Given the description of an element on the screen output the (x, y) to click on. 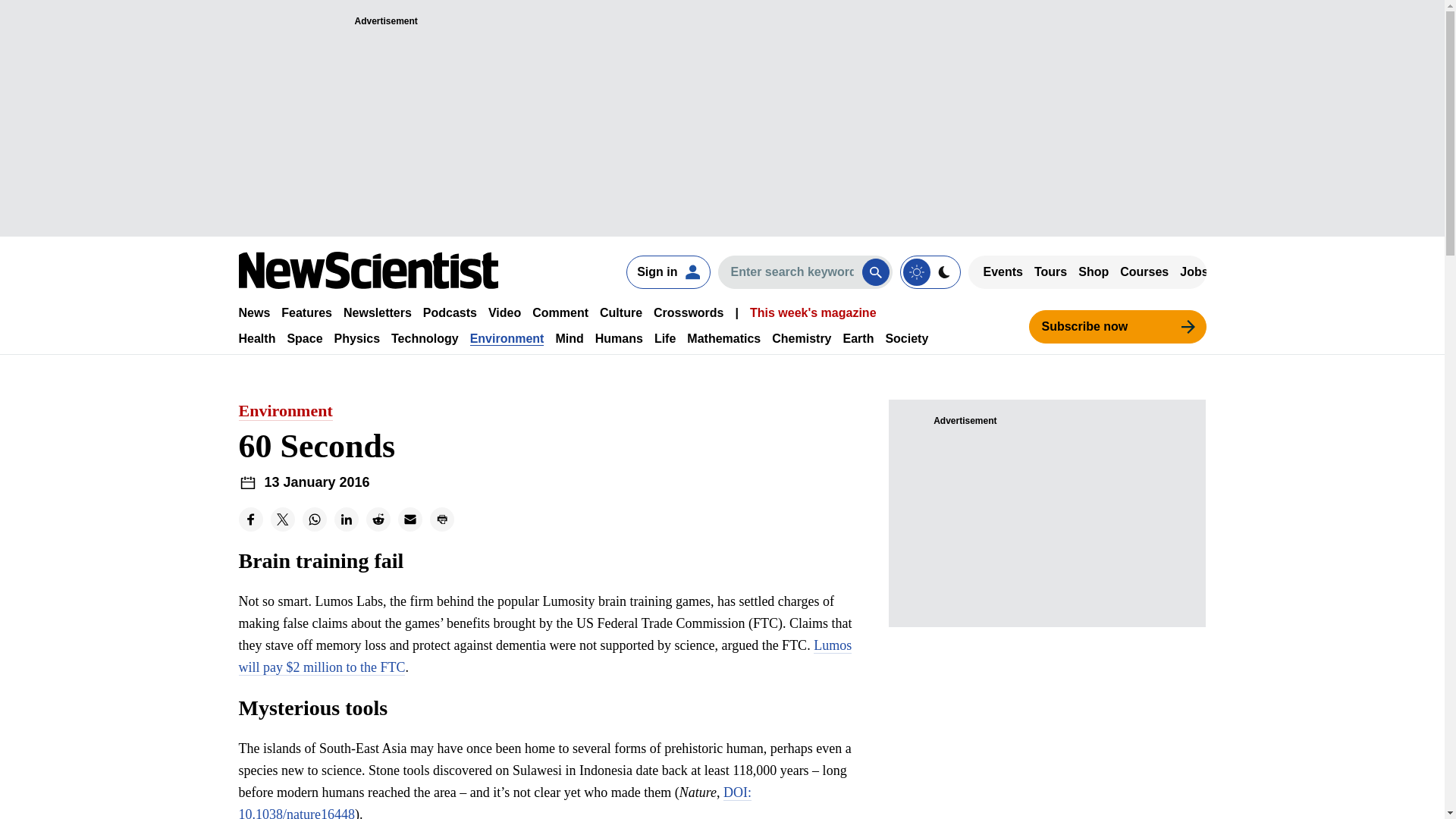
Shop (1093, 272)
Culture (620, 313)
Newsletters (377, 313)
Society (906, 338)
Sign In page link (668, 272)
Tours (1050, 272)
Health (256, 338)
Crosswords (688, 313)
Sign in (668, 272)
News (253, 313)
